Given the description of an element on the screen output the (x, y) to click on. 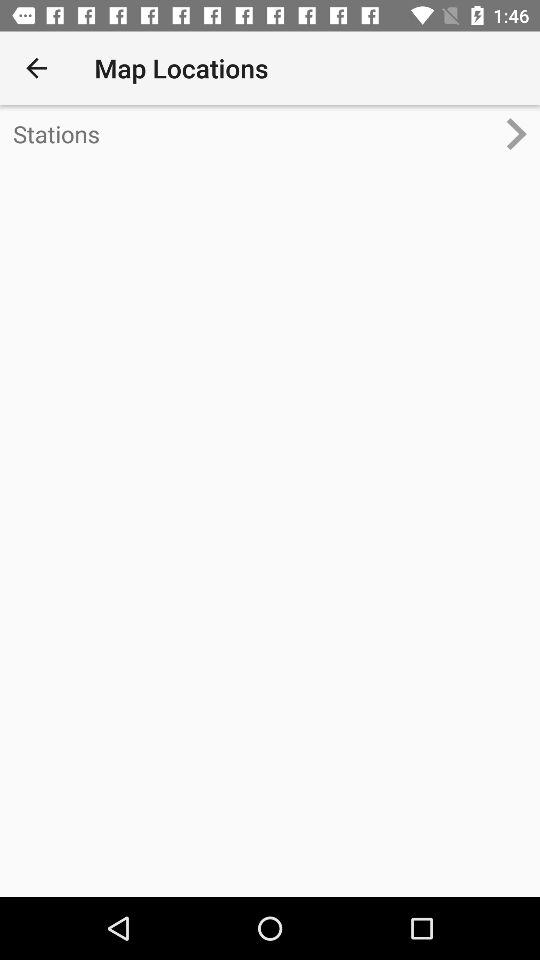
select stations item (253, 134)
